Given the description of an element on the screen output the (x, y) to click on. 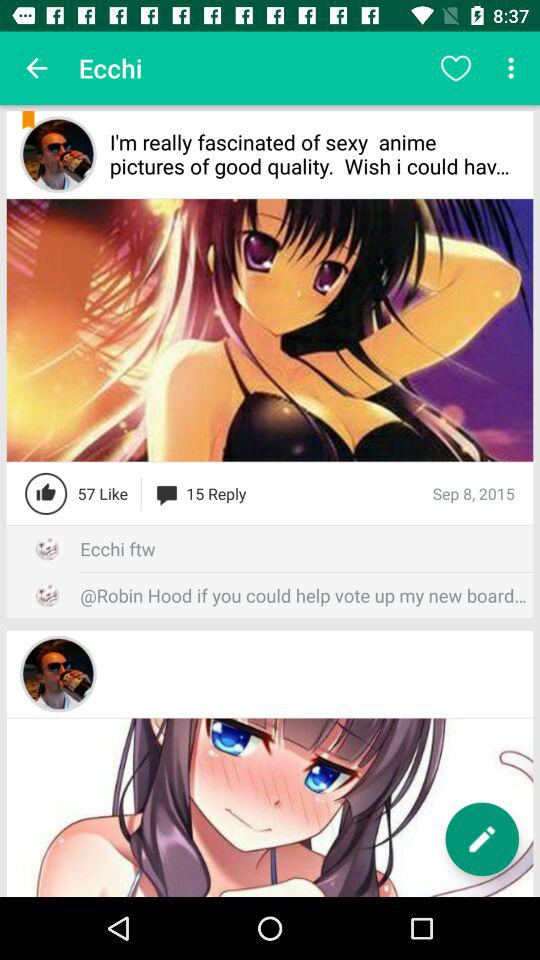
write new note (482, 839)
